Given the description of an element on the screen output the (x, y) to click on. 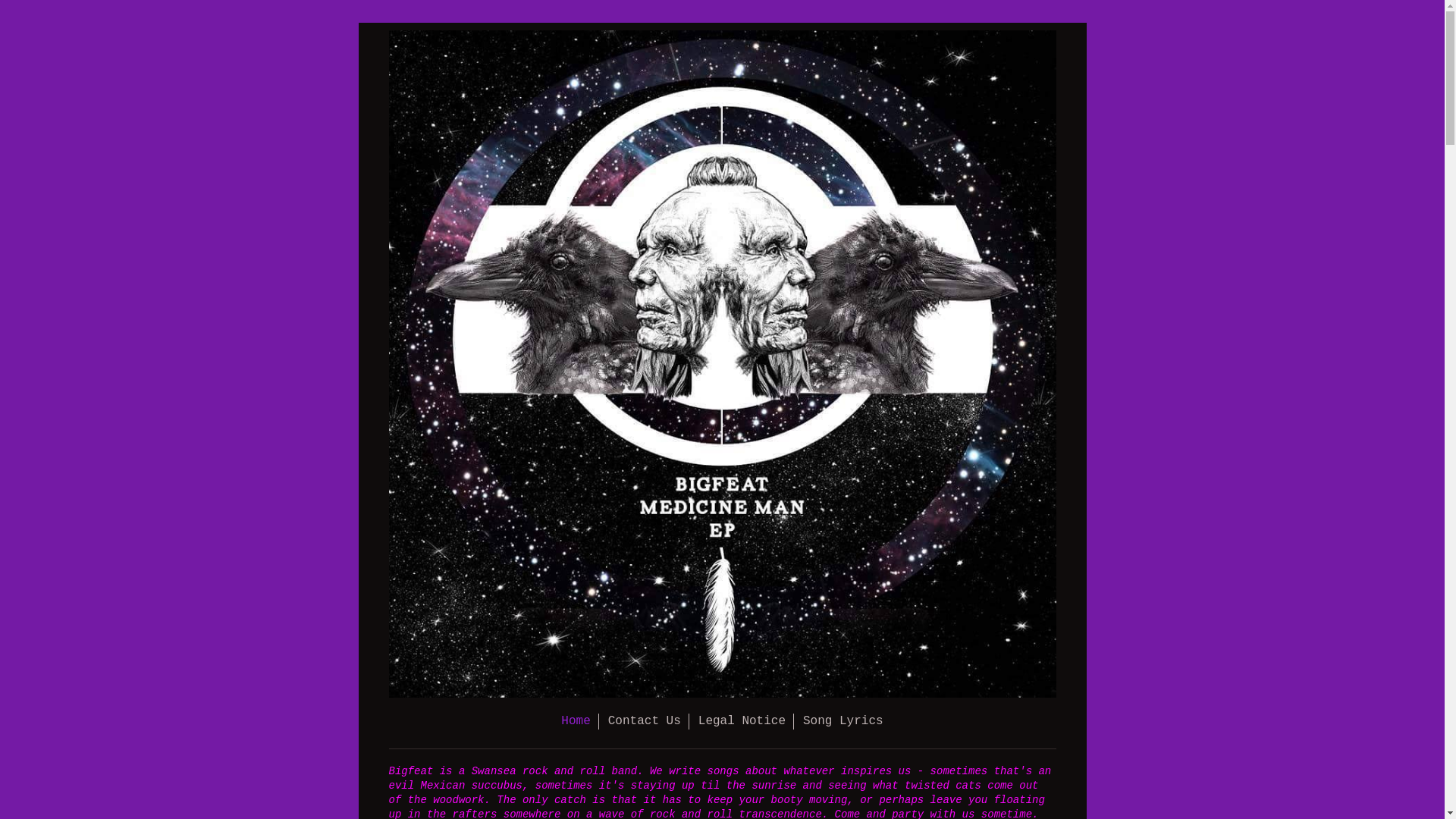
Contact Us Element type: text (644, 721)
Song Lyrics Element type: text (843, 721)
Legal Notice Element type: text (741, 721)
Home Element type: text (575, 721)
